Given the description of an element on the screen output the (x, y) to click on. 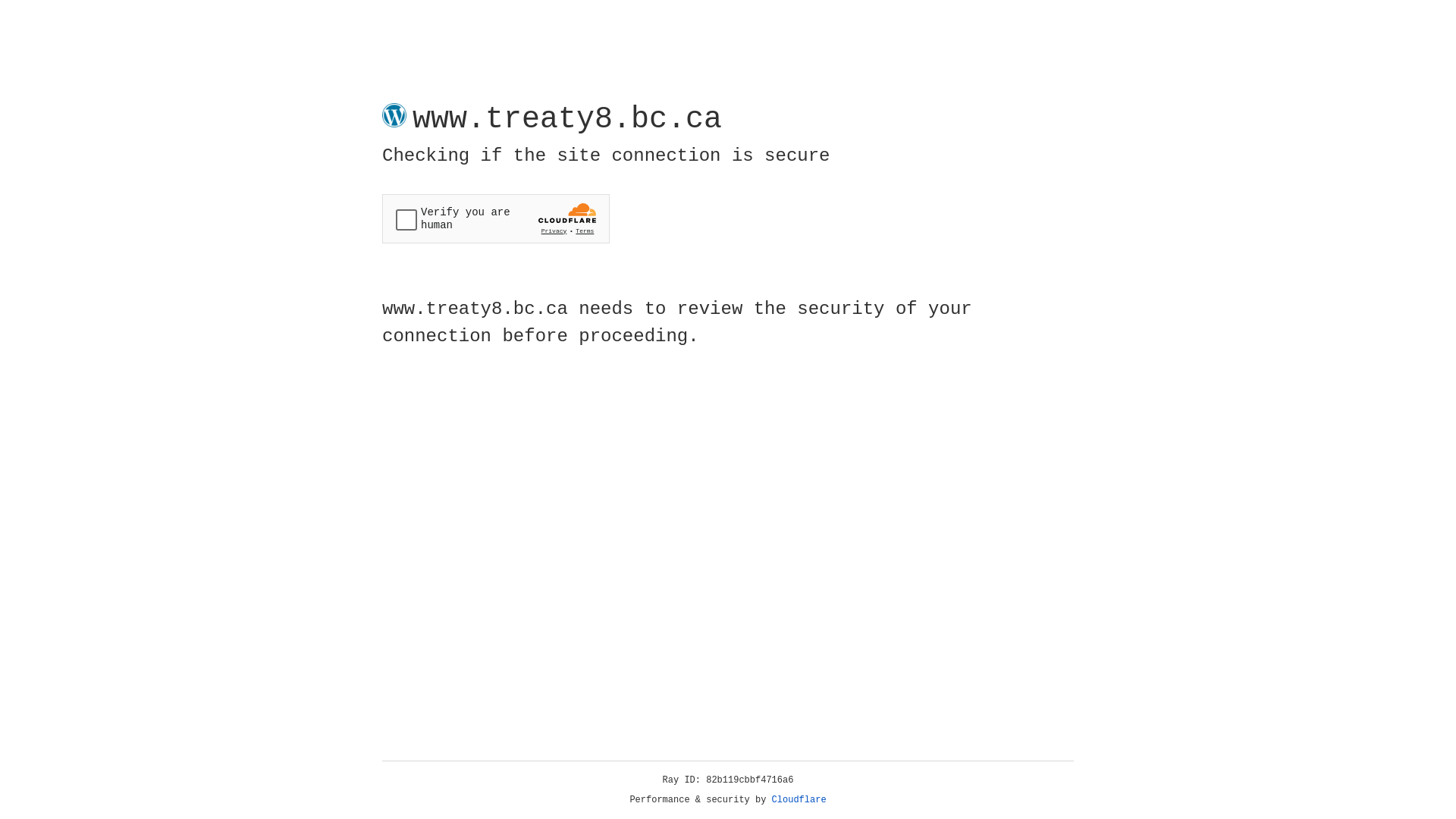
Widget containing a Cloudflare security challenge Element type: hover (495, 218)
Cloudflare Element type: text (798, 799)
